Given the description of an element on the screen output the (x, y) to click on. 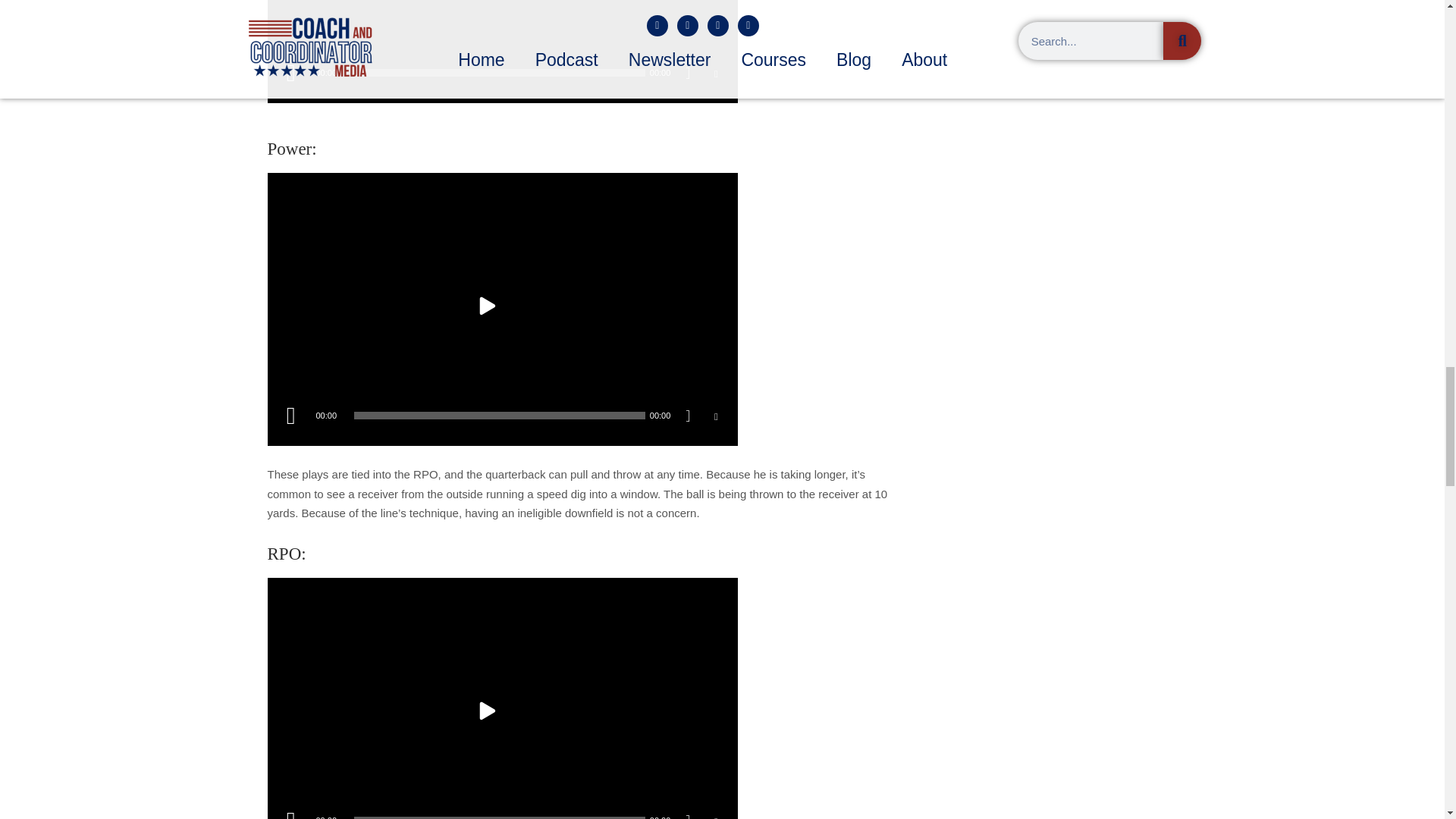
Play (289, 812)
Mute (693, 417)
Play (289, 415)
Mute (693, 74)
Play (289, 72)
